Given the description of an element on the screen output the (x, y) to click on. 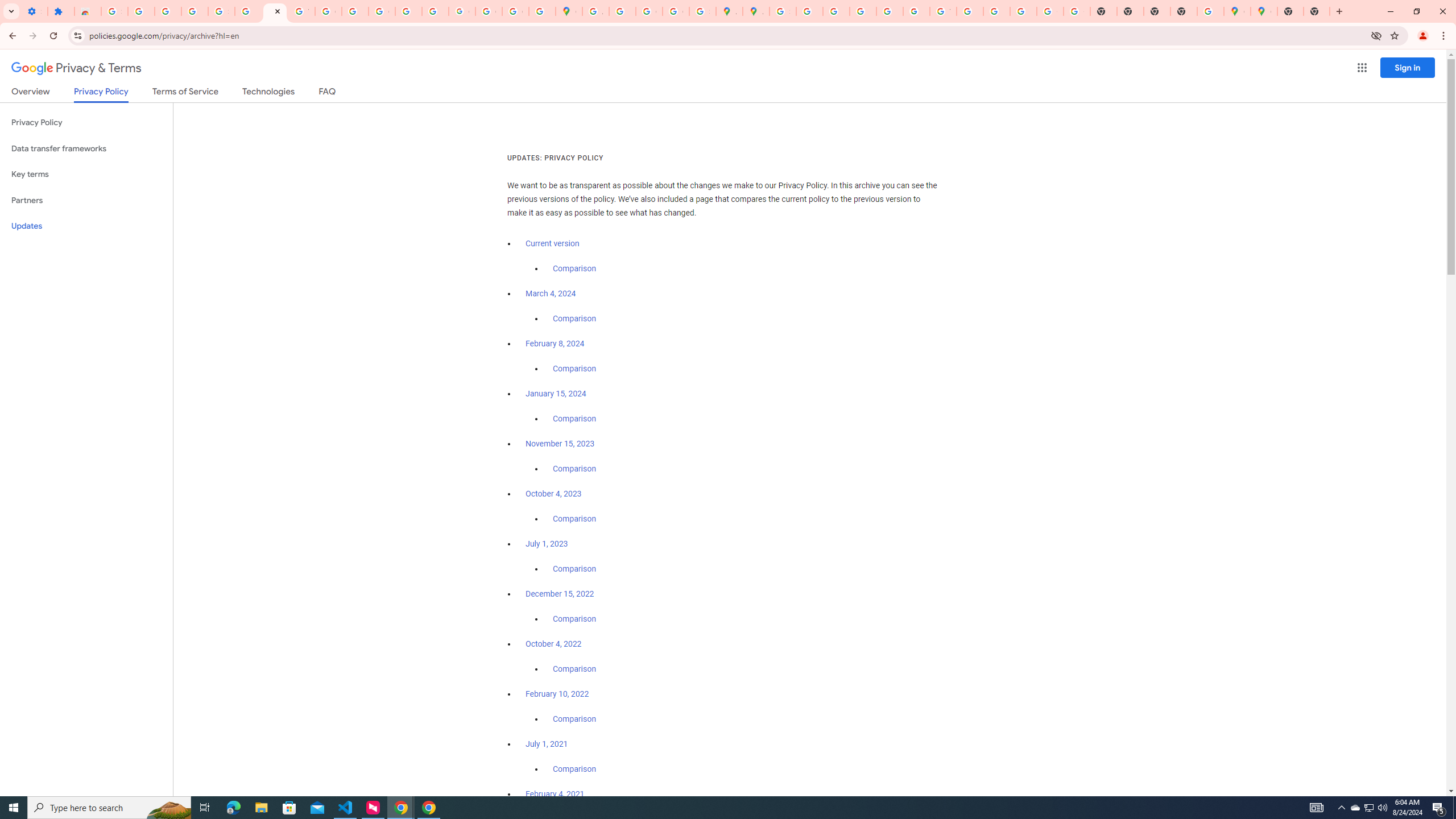
February 4, 2021 (555, 793)
July 1, 2021 (546, 743)
Google Maps (569, 11)
Privacy Help Center - Policies Help (836, 11)
https://scholar.google.com/ (355, 11)
Create your Google Account (649, 11)
December 15, 2022 (559, 593)
